Given the description of an element on the screen output the (x, y) to click on. 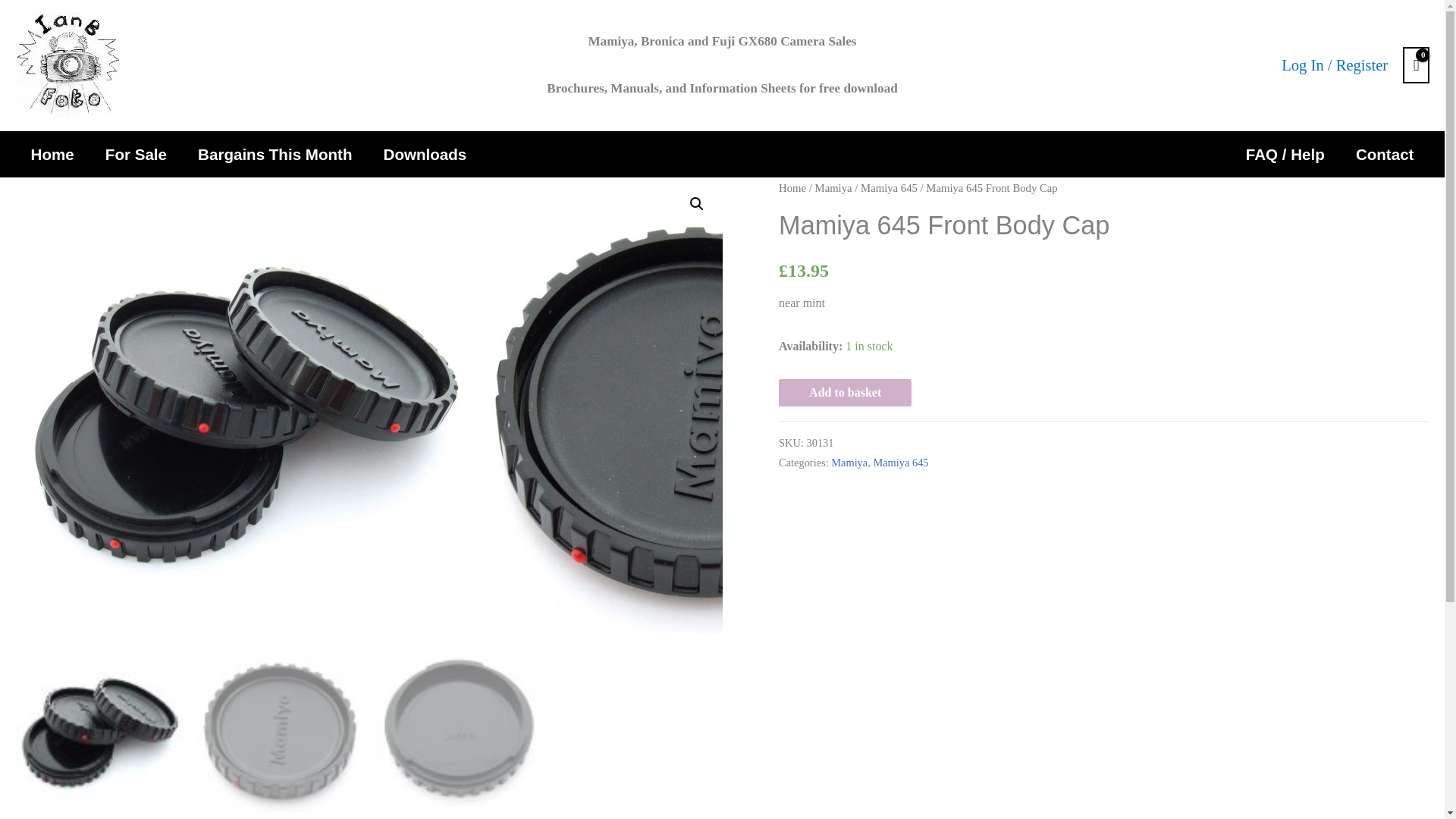
Downloads (424, 154)
Mamiya 645 (900, 462)
Home (792, 187)
Contact (1384, 154)
Home (51, 154)
Mamiya (849, 462)
Bargains This Month (275, 154)
Mamiya (833, 187)
Add to basket (844, 392)
Mamiya 645 (888, 187)
For Sale (135, 154)
